Given the description of an element on the screen output the (x, y) to click on. 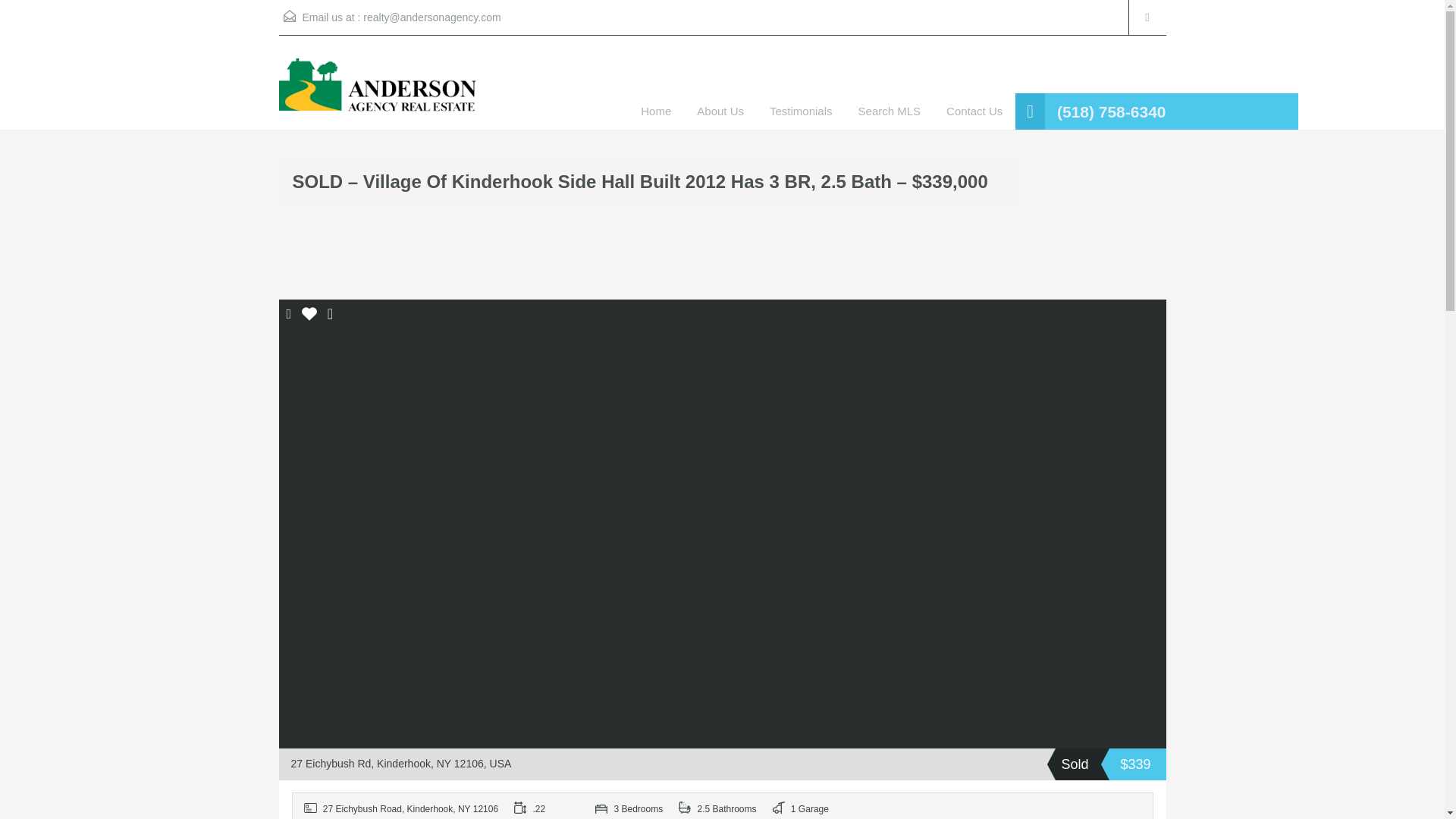
Add To Compare (289, 314)
Area Size (548, 806)
Contact Us (973, 111)
About Us (720, 111)
Property ID (402, 806)
Home (655, 111)
ANDERSON AGENCY REALTORS (377, 93)
Make a Call (1111, 112)
Testimonials (801, 111)
Search MLS (889, 111)
Add to favorite (309, 318)
